Given the description of an element on the screen output the (x, y) to click on. 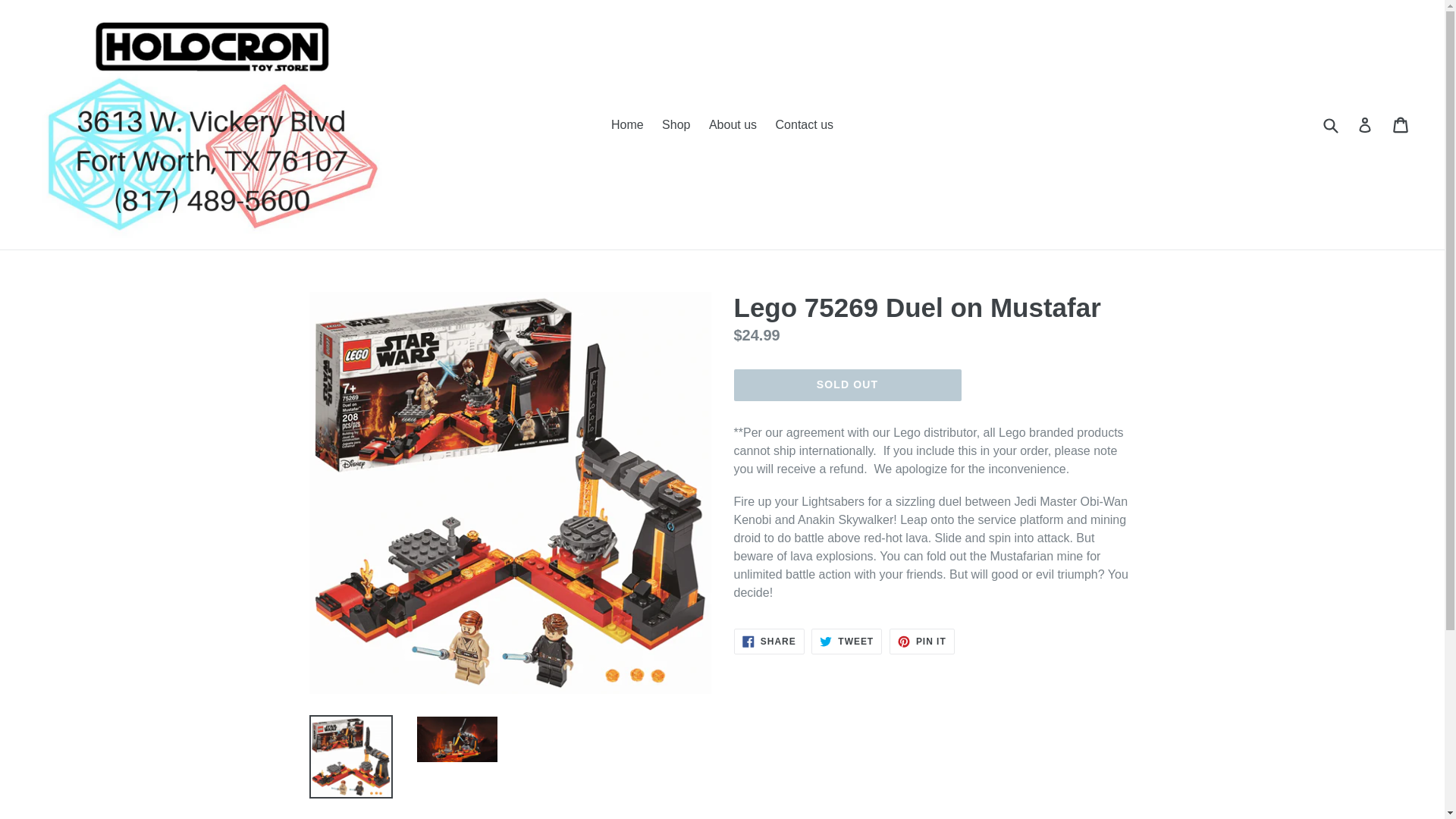
Pin on Pinterest (922, 641)
Shop (846, 641)
Home (675, 124)
SOLD OUT (627, 124)
Tweet on Twitter (846, 385)
Share on Facebook (846, 641)
About us (769, 641)
Contact us (922, 641)
